Given the description of an element on the screen output the (x, y) to click on. 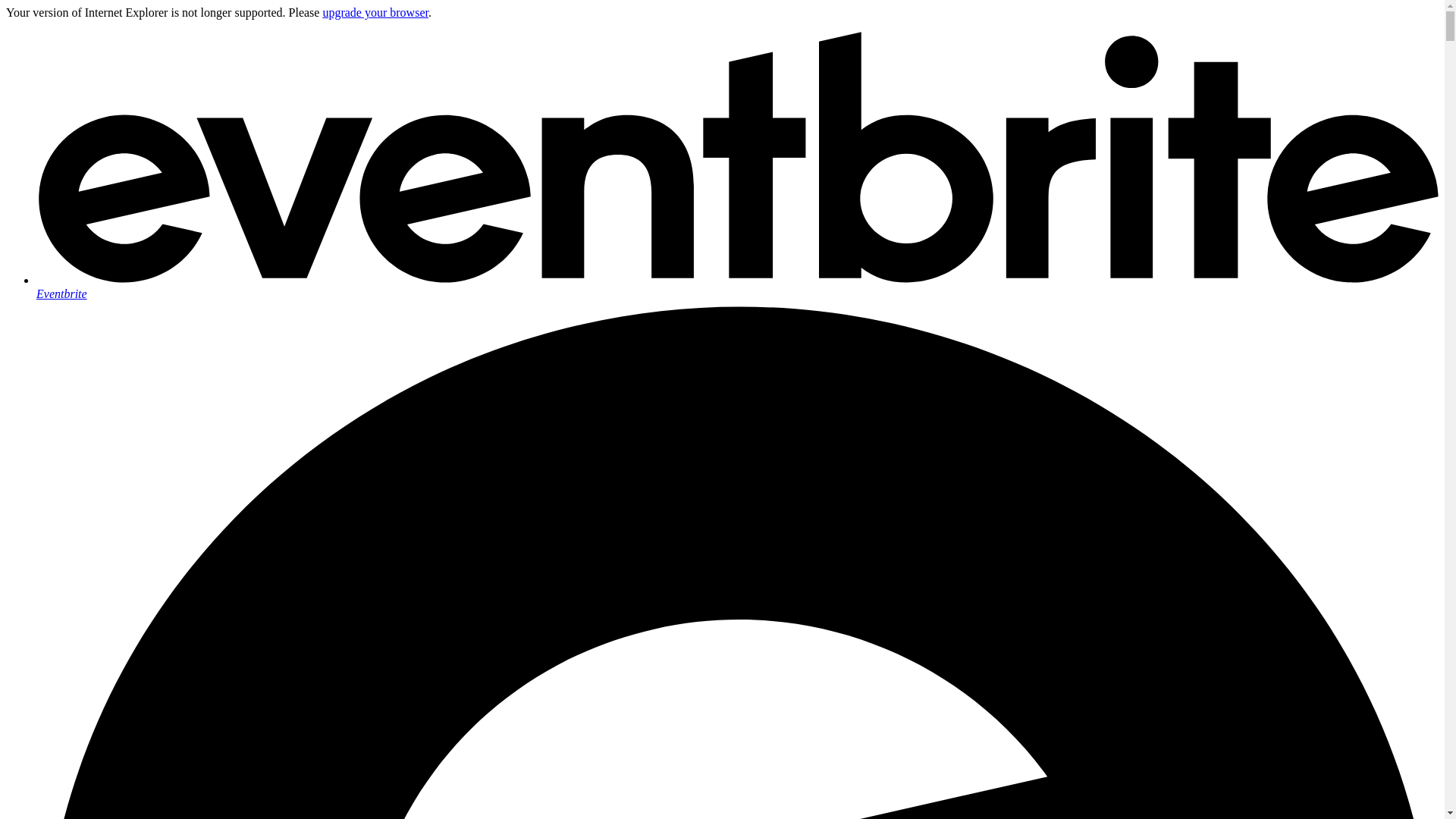
Eventbrite Element type: text (737, 286)
upgrade your browser Element type: text (375, 12)
